Given the description of an element on the screen output the (x, y) to click on. 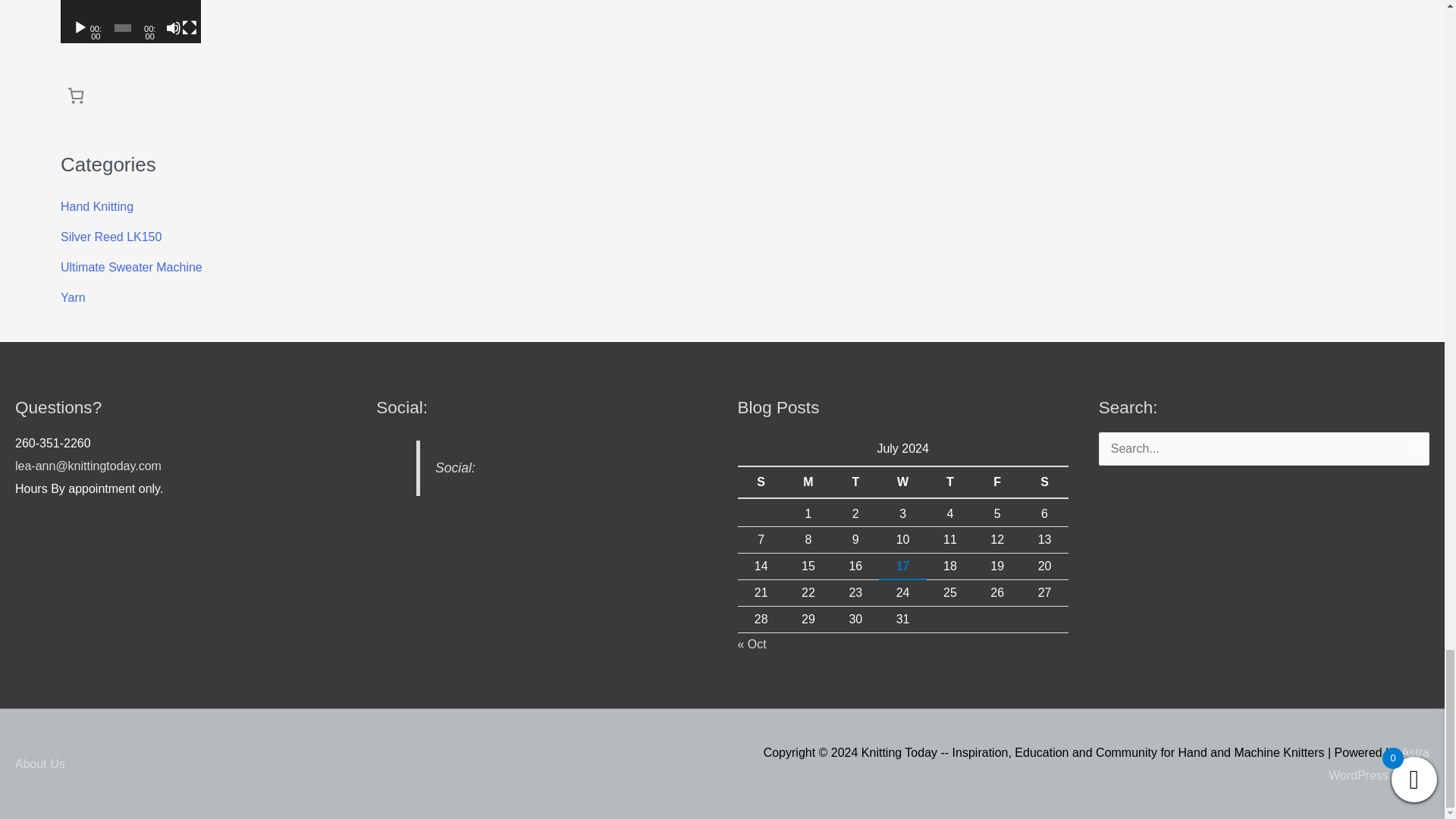
About Us (45, 763)
Tuesday (855, 482)
Silver Reed LK150 (111, 236)
Play (79, 28)
Monday (807, 482)
Yarn (73, 297)
Social: (455, 467)
Fullscreen (189, 28)
Thursday (950, 482)
Mute (172, 28)
Social: (401, 407)
Astra WordPress Theme (1378, 764)
Wednesday (902, 482)
Sunday (760, 482)
Hand Knitting (97, 205)
